Given the description of an element on the screen output the (x, y) to click on. 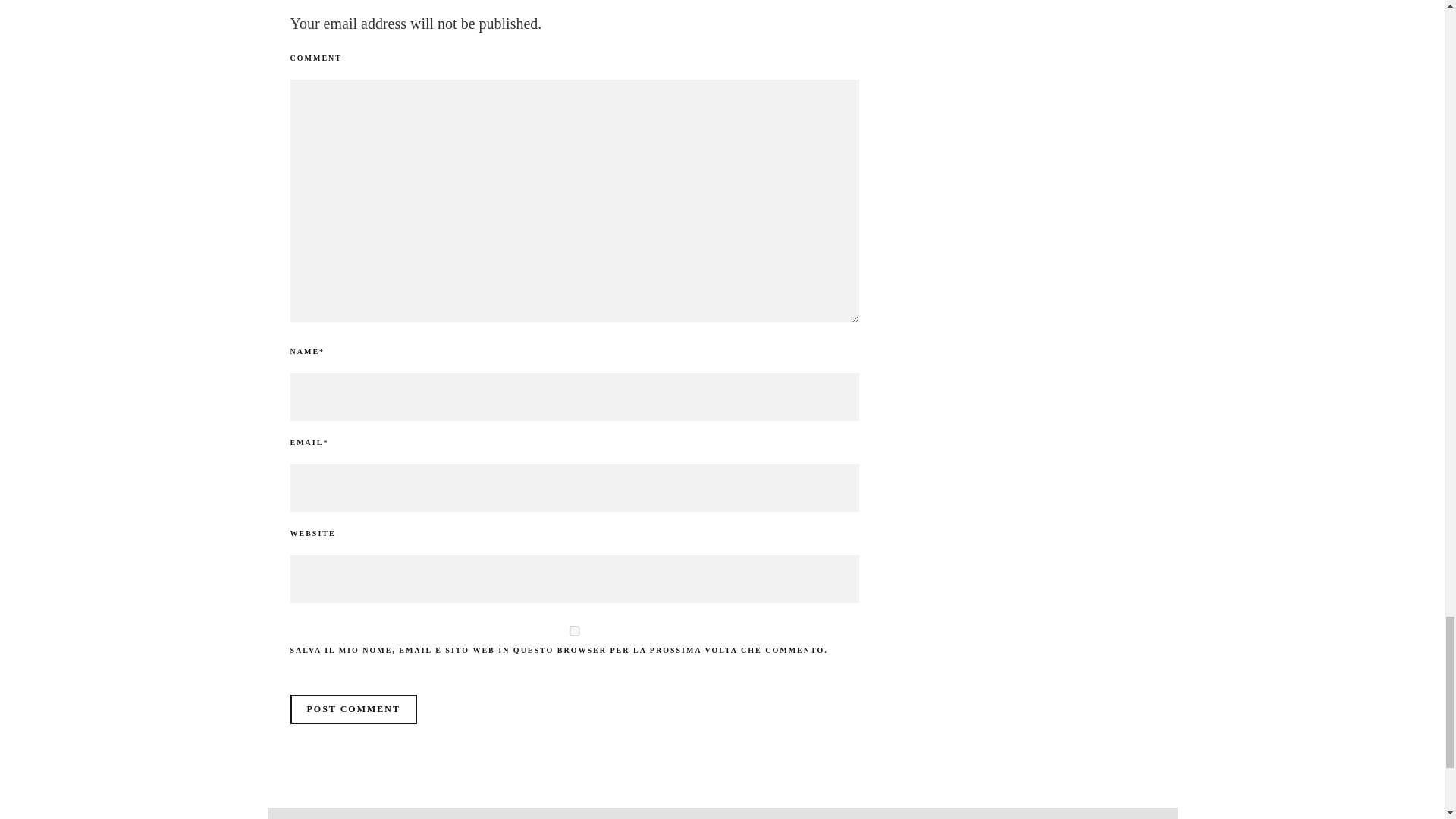
Post Comment (352, 708)
yes (574, 631)
